Given the description of an element on the screen output the (x, y) to click on. 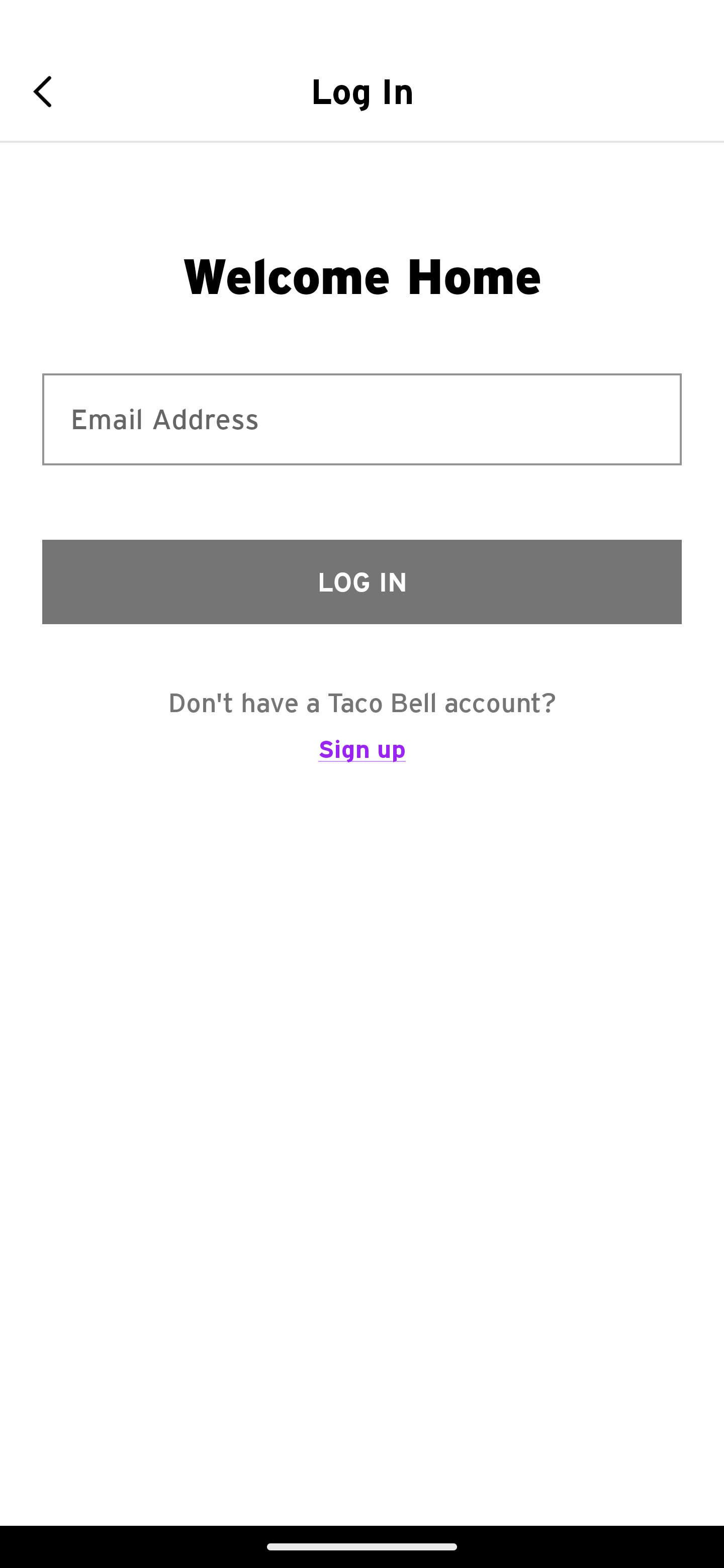
Navigate up (49, 91)
Email Address (361, 419)
LOG IN (361, 581)
Sign up (361, 757)
